Given the description of an element on the screen output the (x, y) to click on. 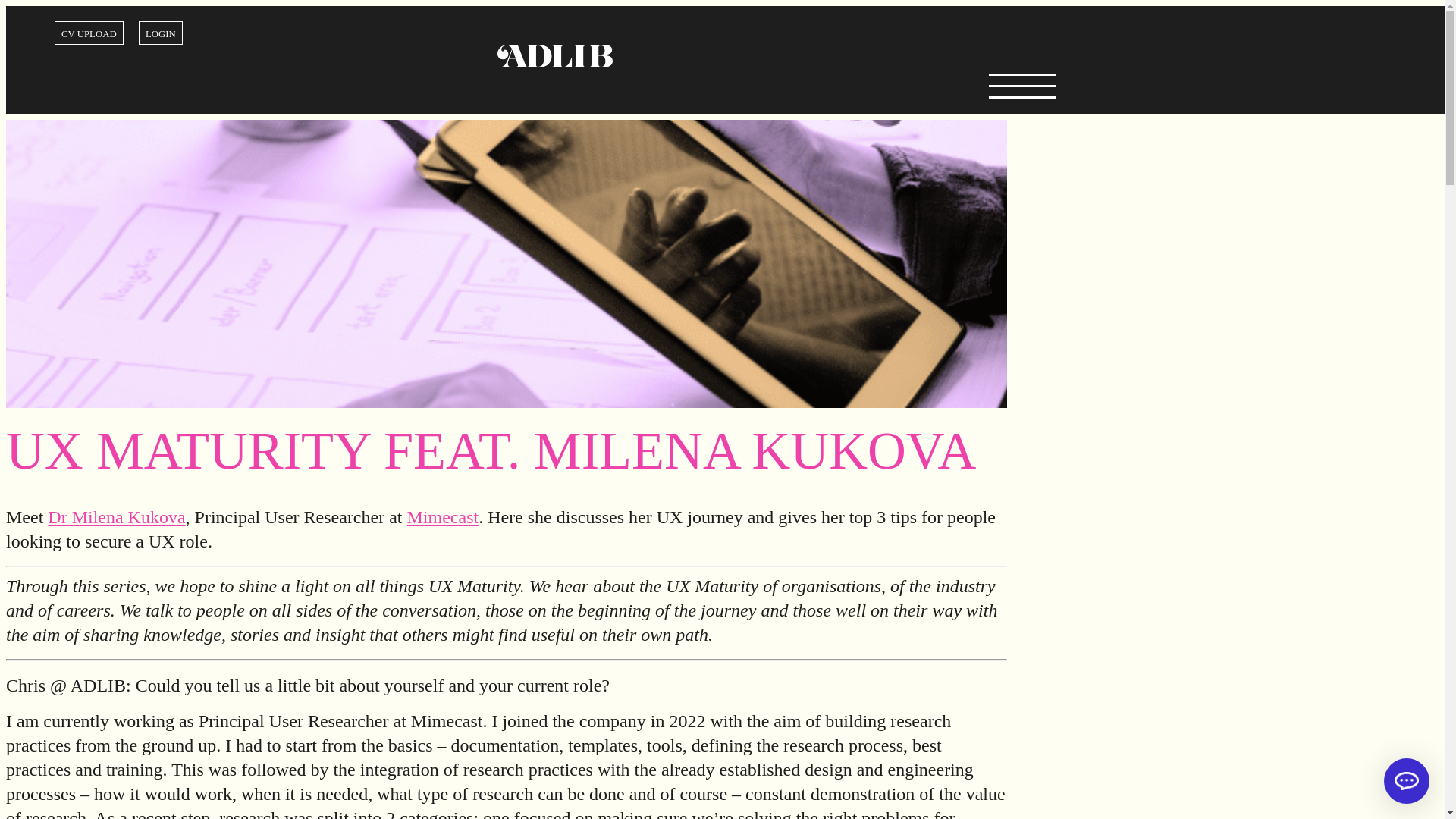
CV UPLOAD (89, 33)
LOGIN (160, 33)
Dr Milena Kukova (116, 516)
Mimecast (442, 516)
